Given the description of an element on the screen output the (x, y) to click on. 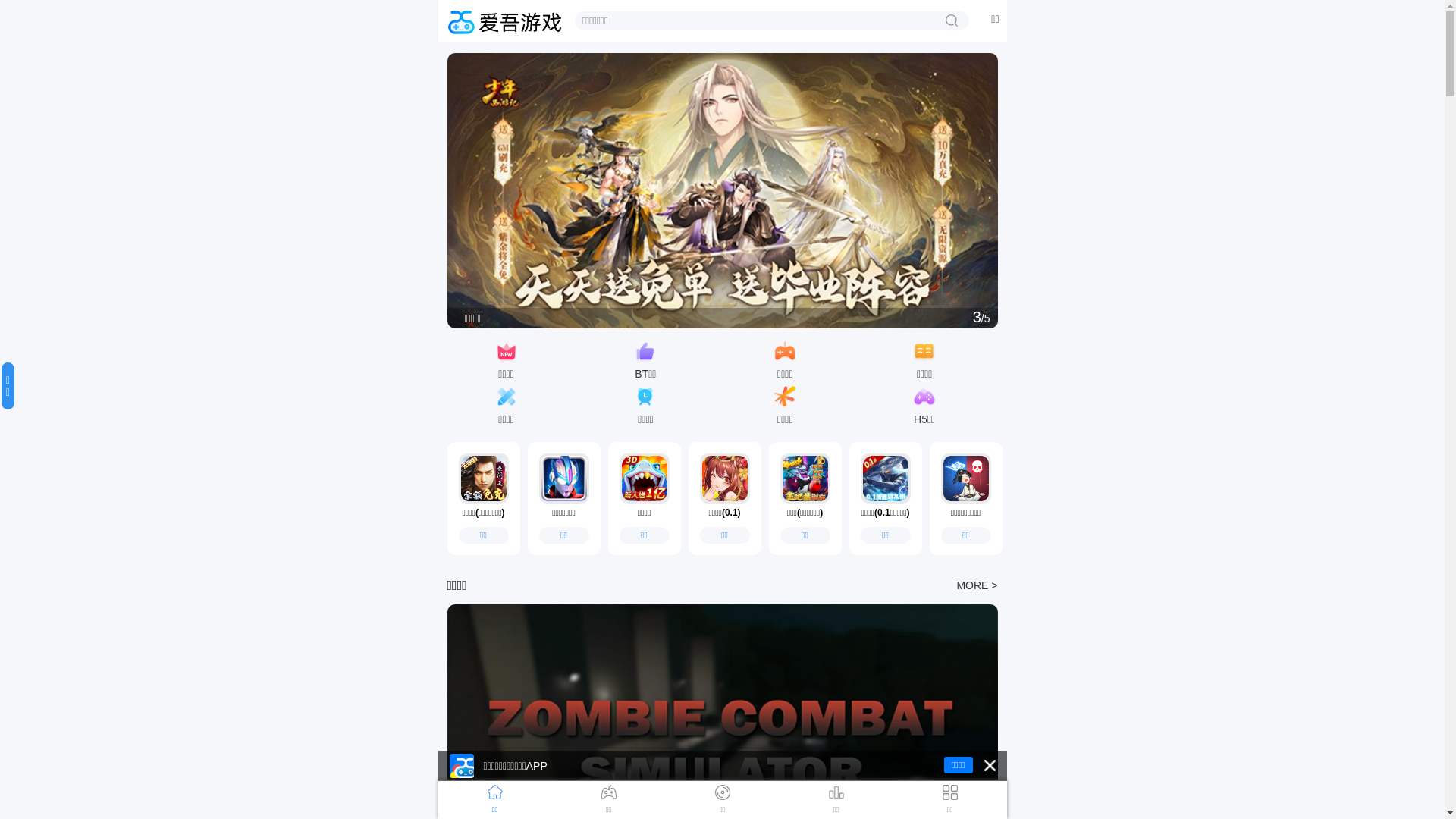
MORE > Element type: text (976, 585)
